Given the description of an element on the screen output the (x, y) to click on. 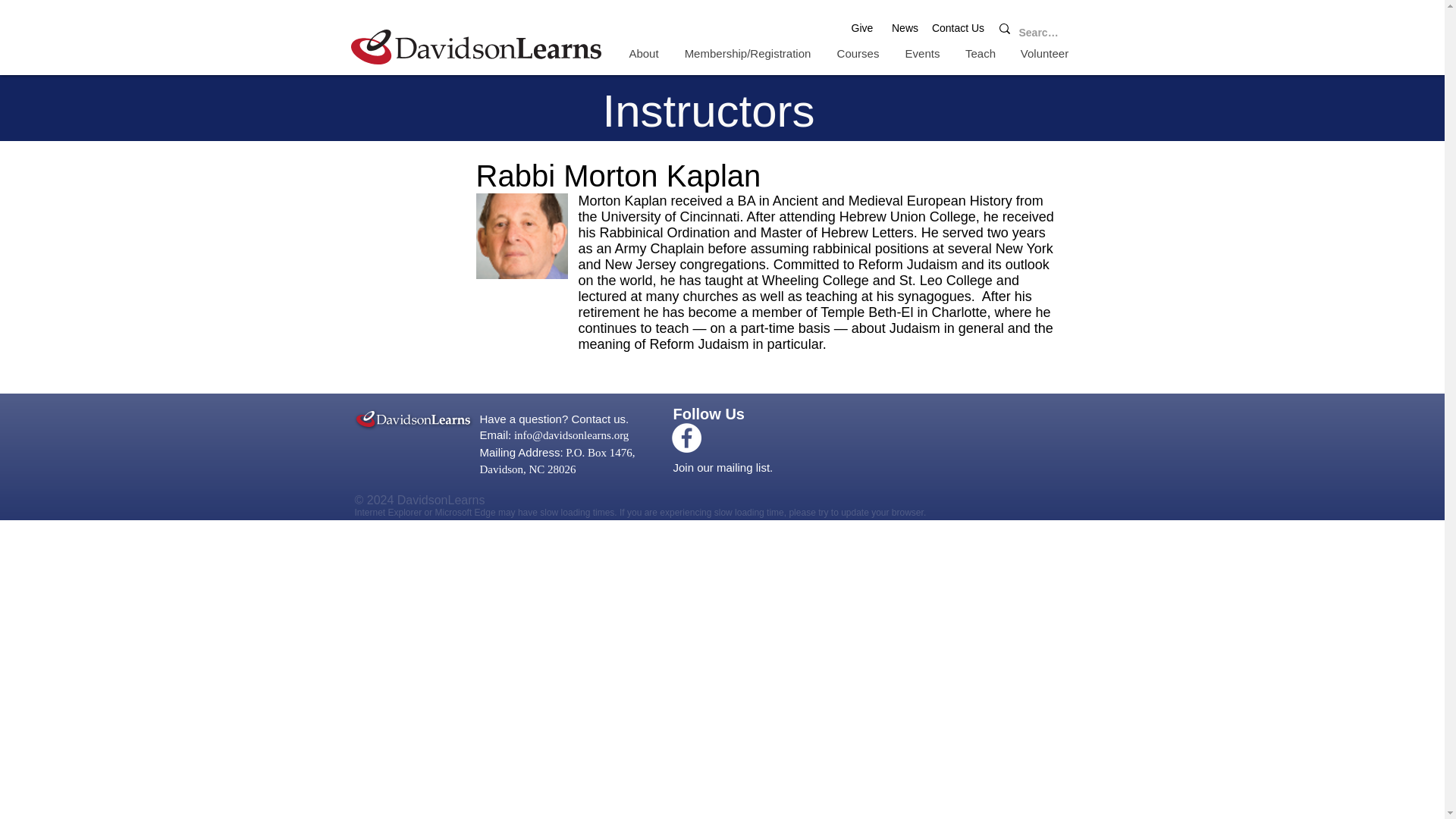
Rabbi Morton Kaplan (521, 236)
Contact Us (958, 27)
Events (921, 53)
Join our mailing list. (748, 467)
News (905, 27)
Give (861, 27)
Volunteer (1045, 53)
Have a question? Contact us. (570, 418)
Teach (979, 53)
